Given the description of an element on the screen output the (x, y) to click on. 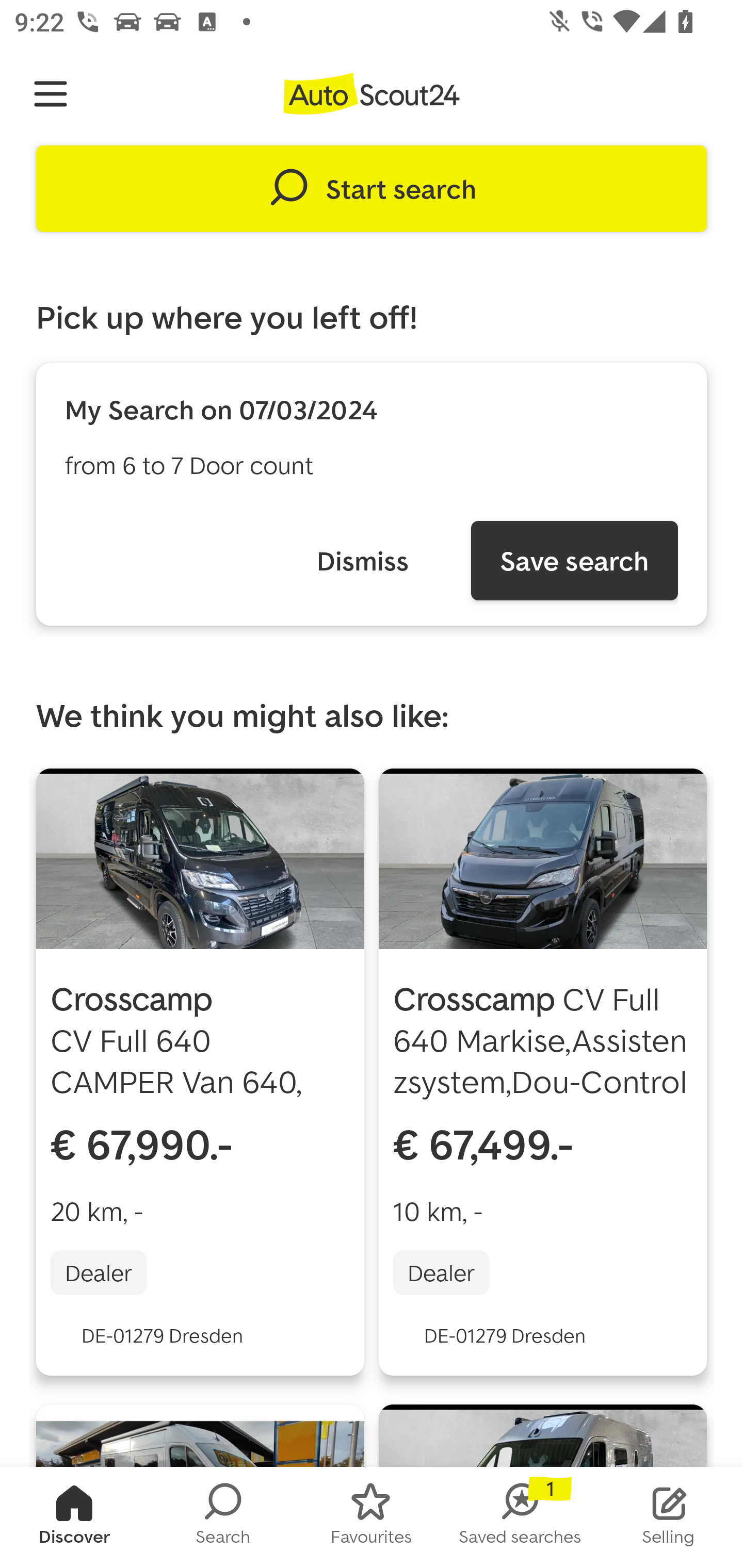
Navigate up (50, 93)
Start search (371, 188)
Dismiss (362, 560)
Save search (574, 560)
HOMESCREEN Discover (74, 1517)
SEARCH Search (222, 1517)
FAVORITES Favourites (371, 1517)
SAVED_SEARCHES Saved searches 1 (519, 1517)
STOCK_LIST Selling (668, 1517)
